Given the description of an element on the screen output the (x, y) to click on. 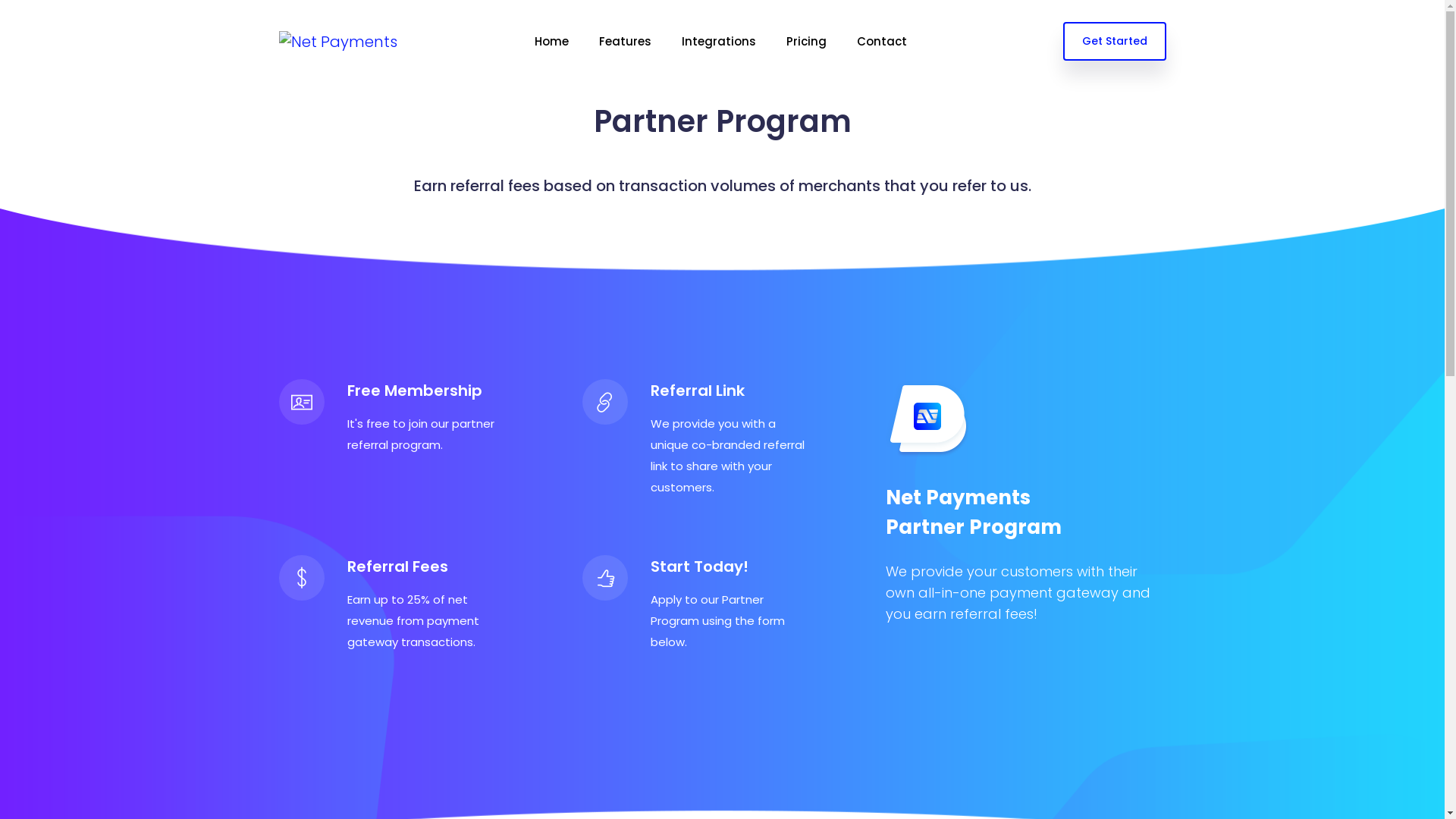
Get Started Element type: text (1114, 40)
Home Element type: text (551, 41)
Pricing Element type: text (806, 41)
Integrations Element type: text (718, 41)
Contact Element type: text (881, 41)
Features Element type: text (625, 41)
